Given the description of an element on the screen output the (x, y) to click on. 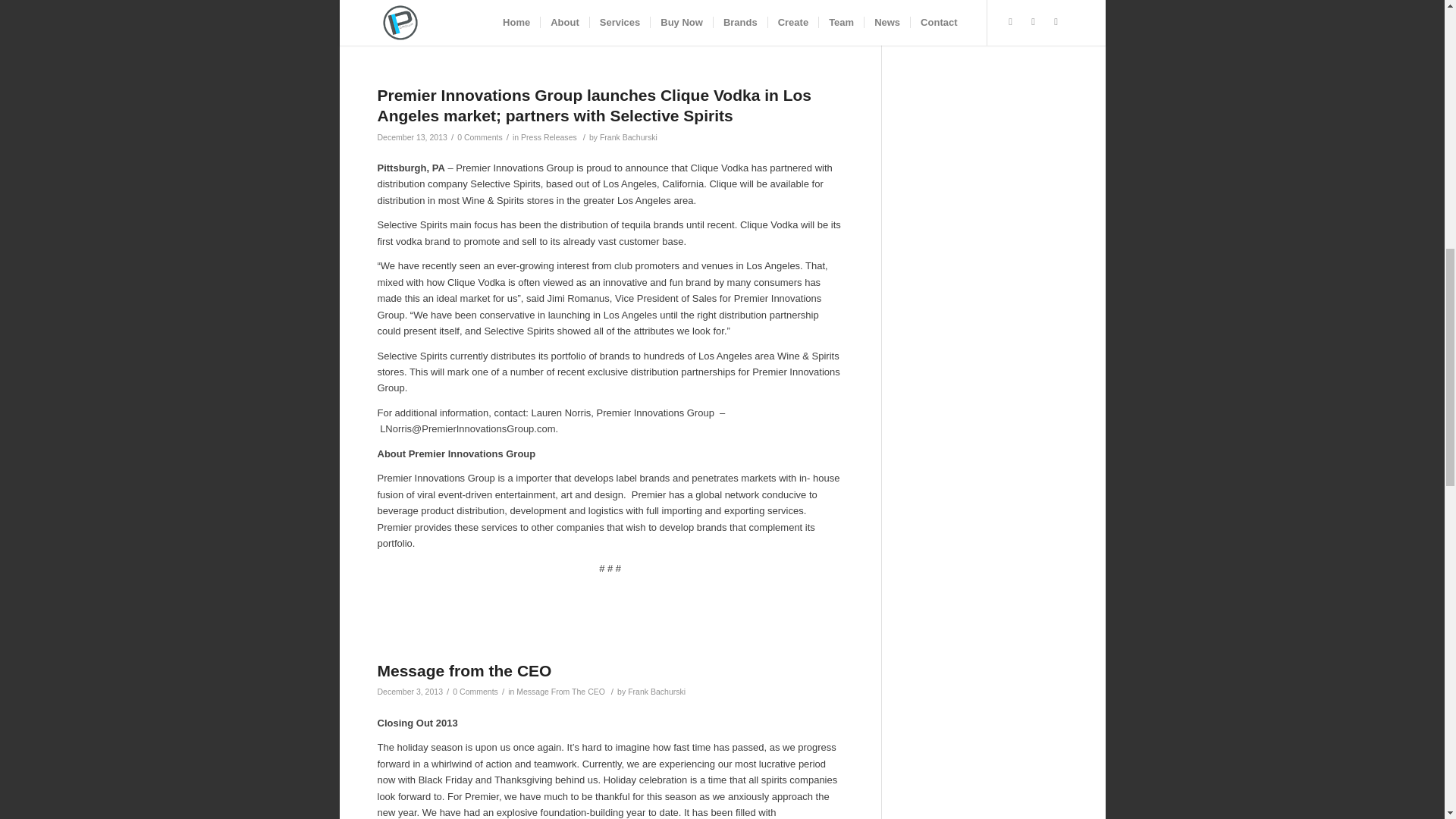
Posts by Frank Bachurski (628, 136)
Permanent Link: Message from the CEO (464, 670)
Posts by Frank Bachurski (656, 691)
